Given the description of an element on the screen output the (x, y) to click on. 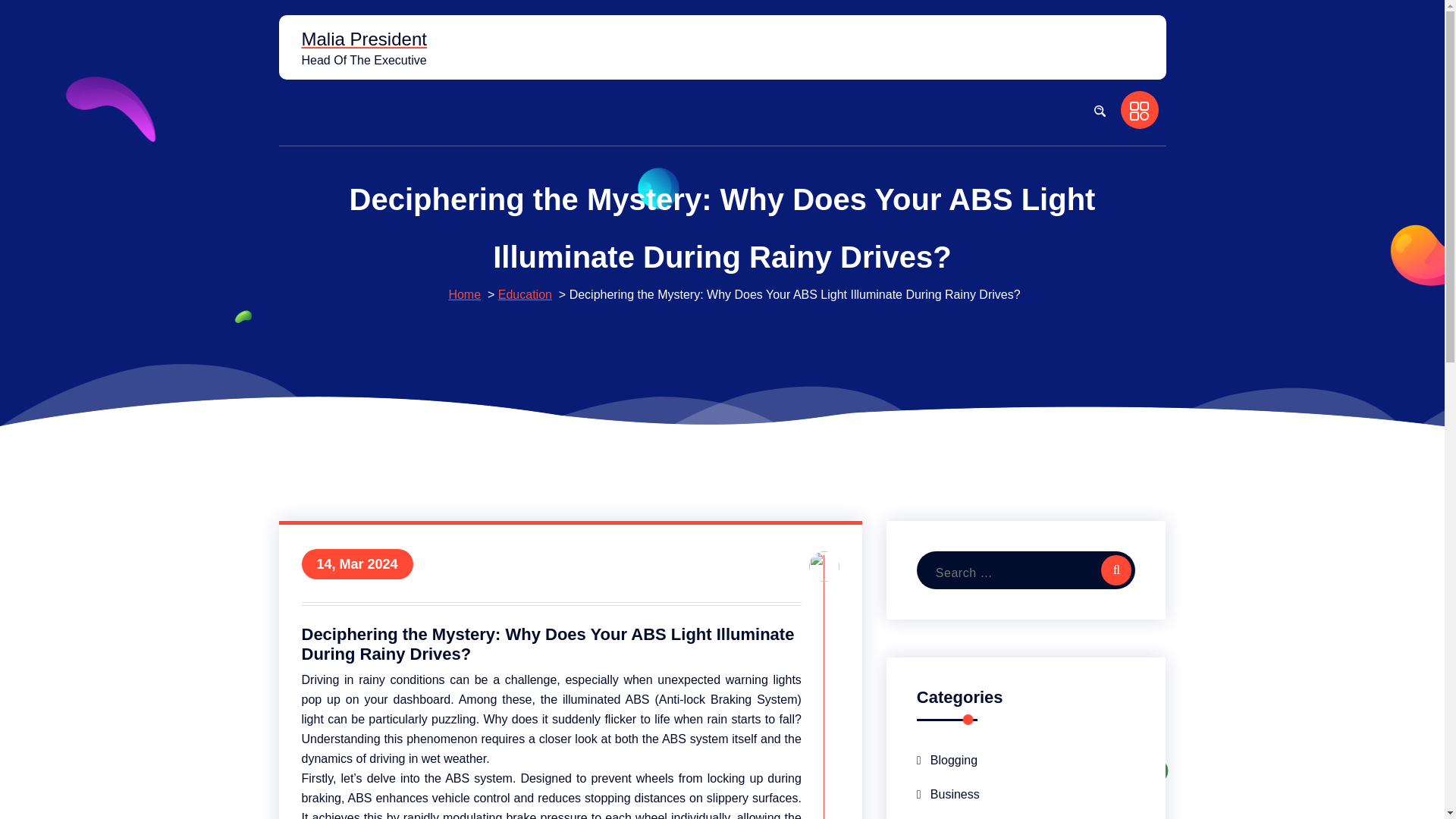
Malia President (363, 39)
Search (1115, 570)
Blogging (946, 759)
Fashion (945, 815)
Business (948, 794)
Education (524, 294)
Home (464, 294)
